Given the description of an element on the screen output the (x, y) to click on. 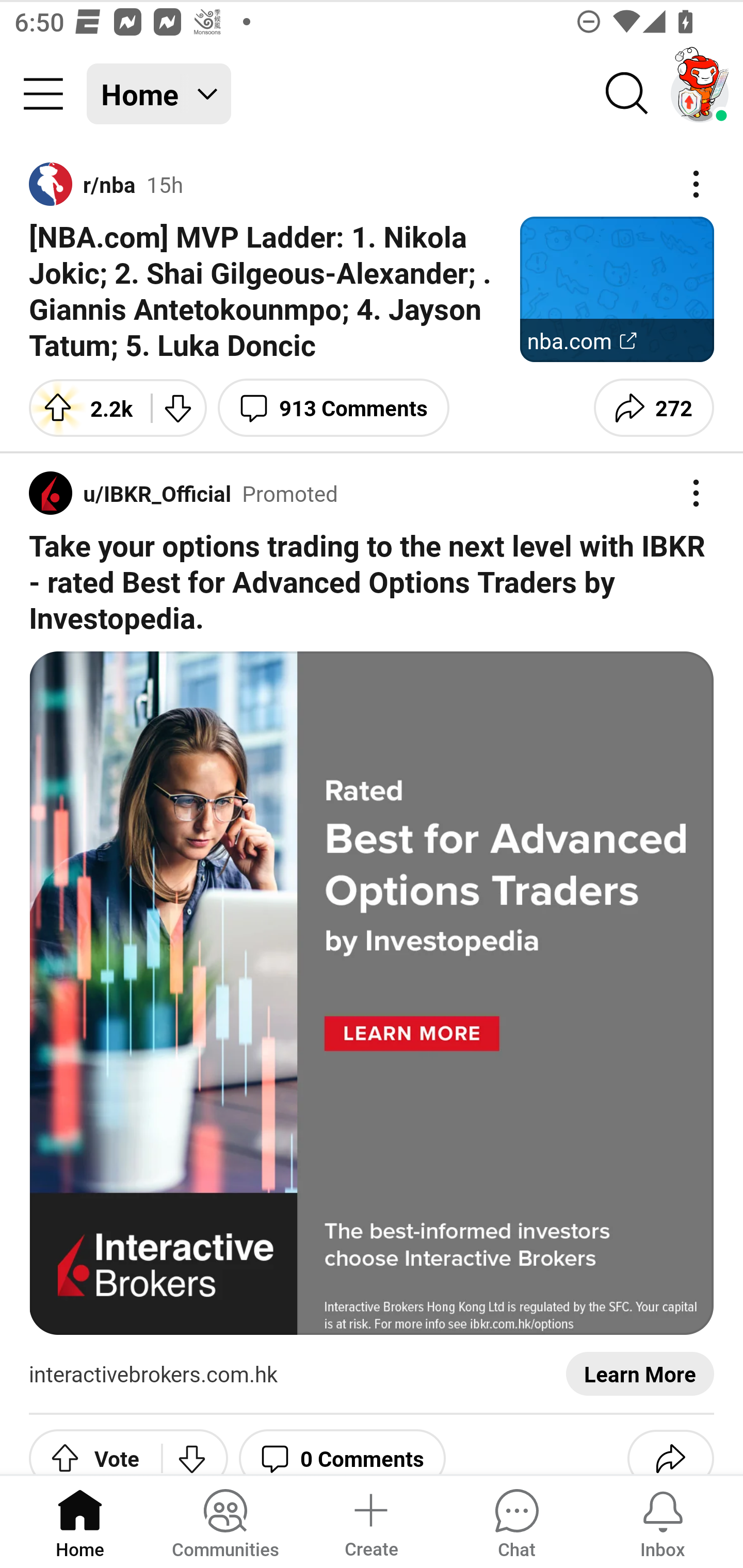
Community menu (43, 93)
Home Home feed (158, 93)
Search (626, 93)
TestAppium002 account (699, 93)
Home (80, 1520)
Communities (225, 1520)
Create a post Create (370, 1520)
Chat (516, 1520)
Inbox (662, 1520)
